Given the description of an element on the screen output the (x, y) to click on. 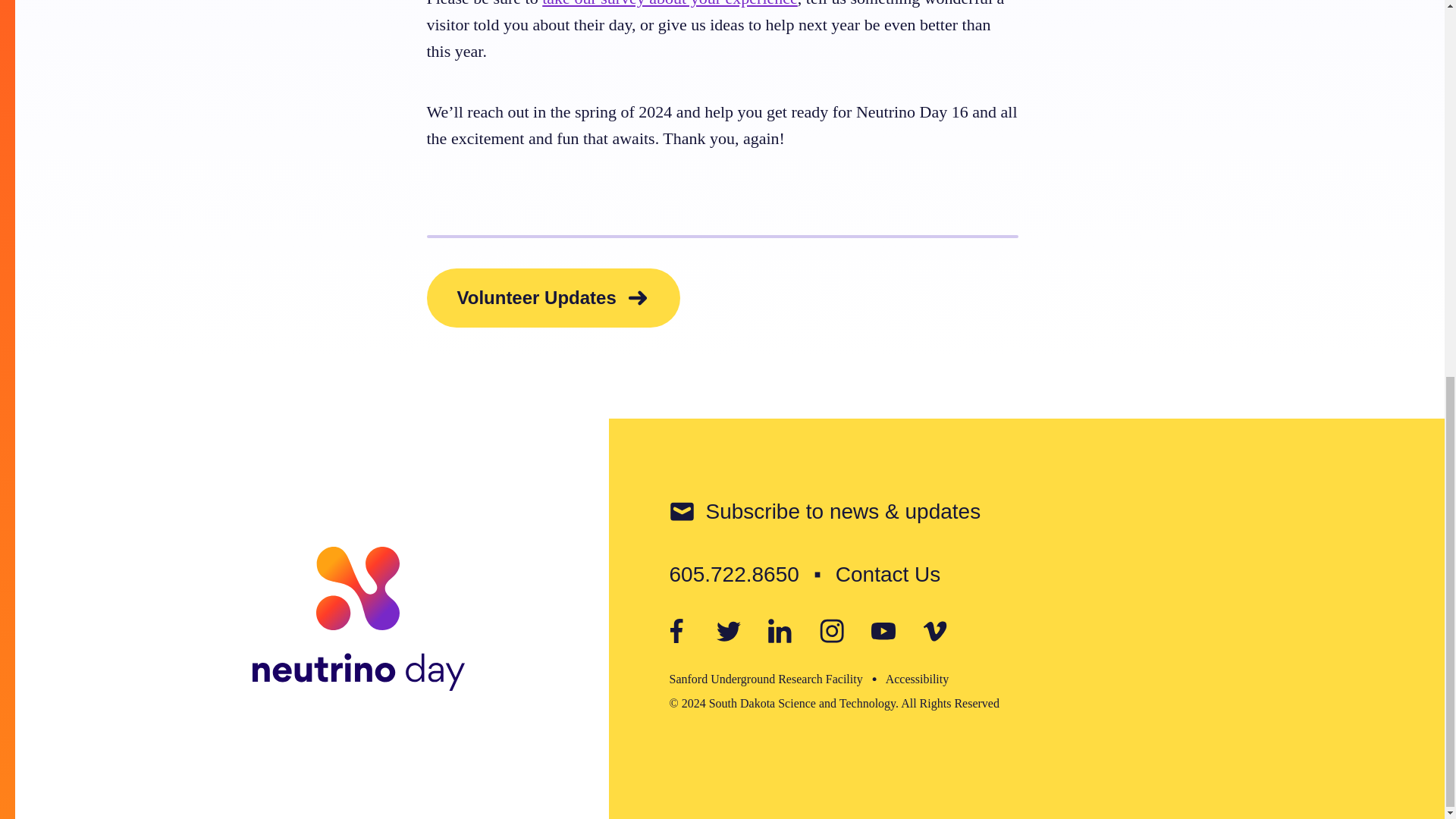
Accessibility (917, 678)
Vimeo (934, 630)
Volunteer Updates (552, 297)
LinkedIn (779, 630)
Neutrio Day (357, 619)
Twitter (727, 630)
Youtube (883, 630)
take our survey about your experience (669, 3)
Facebook (676, 630)
605.722.8650 (732, 574)
